Given the description of an element on the screen output the (x, y) to click on. 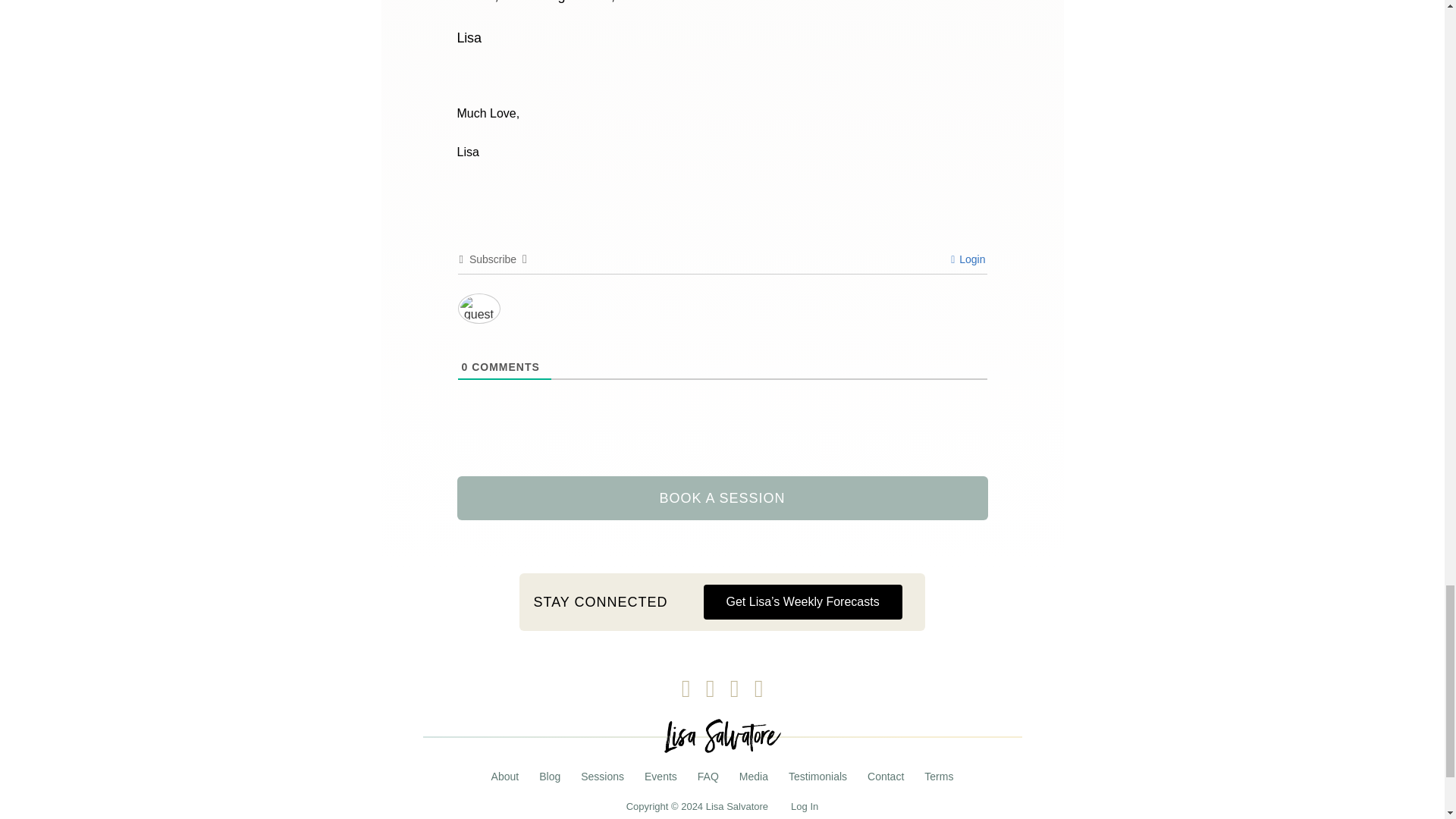
Login (967, 259)
